Given the description of an element on the screen output the (x, y) to click on. 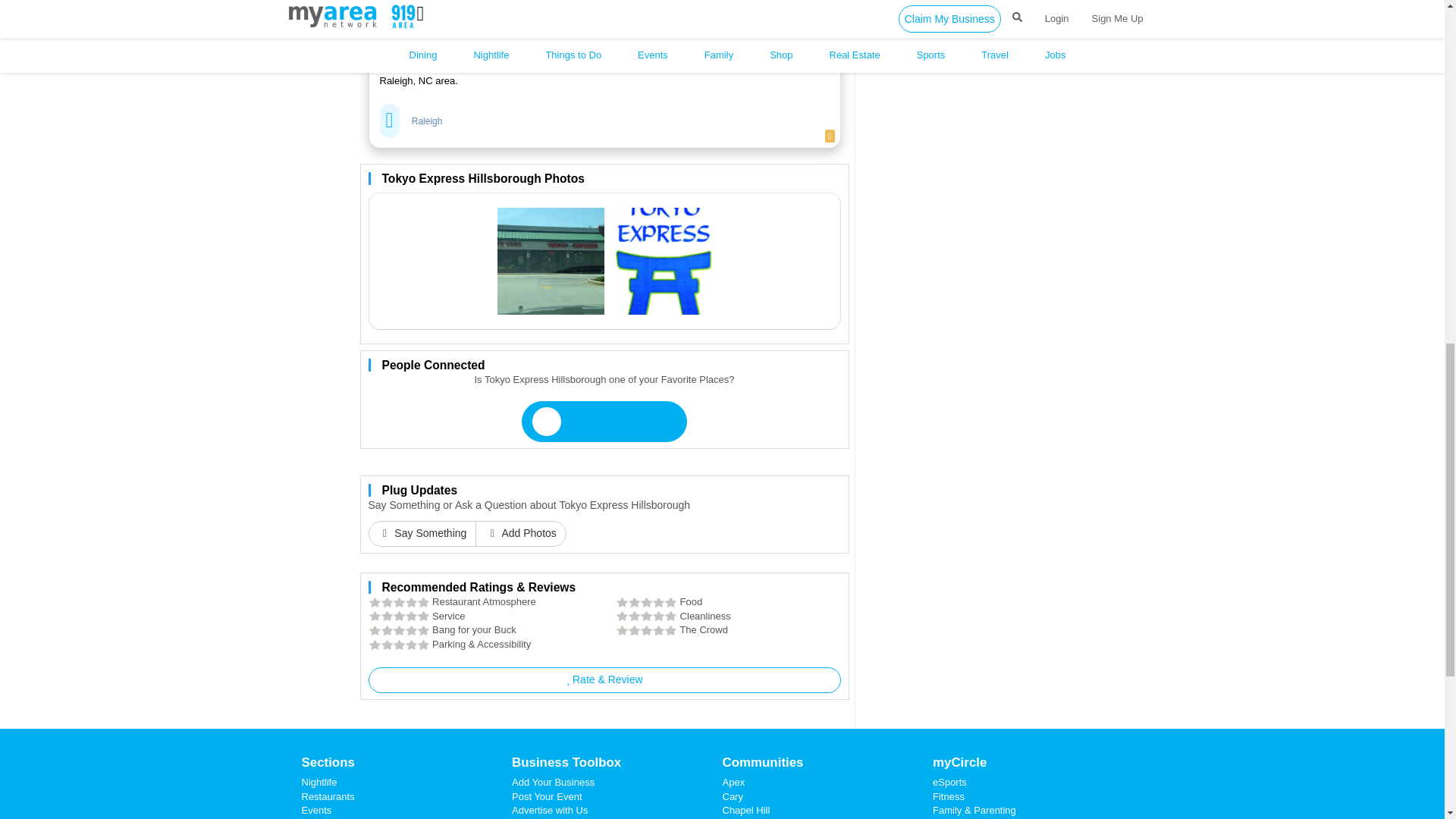
Raleigh (426, 121)
Add Photos (521, 533)
Graze Craze in Central Raleigh (548, 7)
Say Something (422, 533)
Add to My Connections (604, 421)
